Given the description of an element on the screen output the (x, y) to click on. 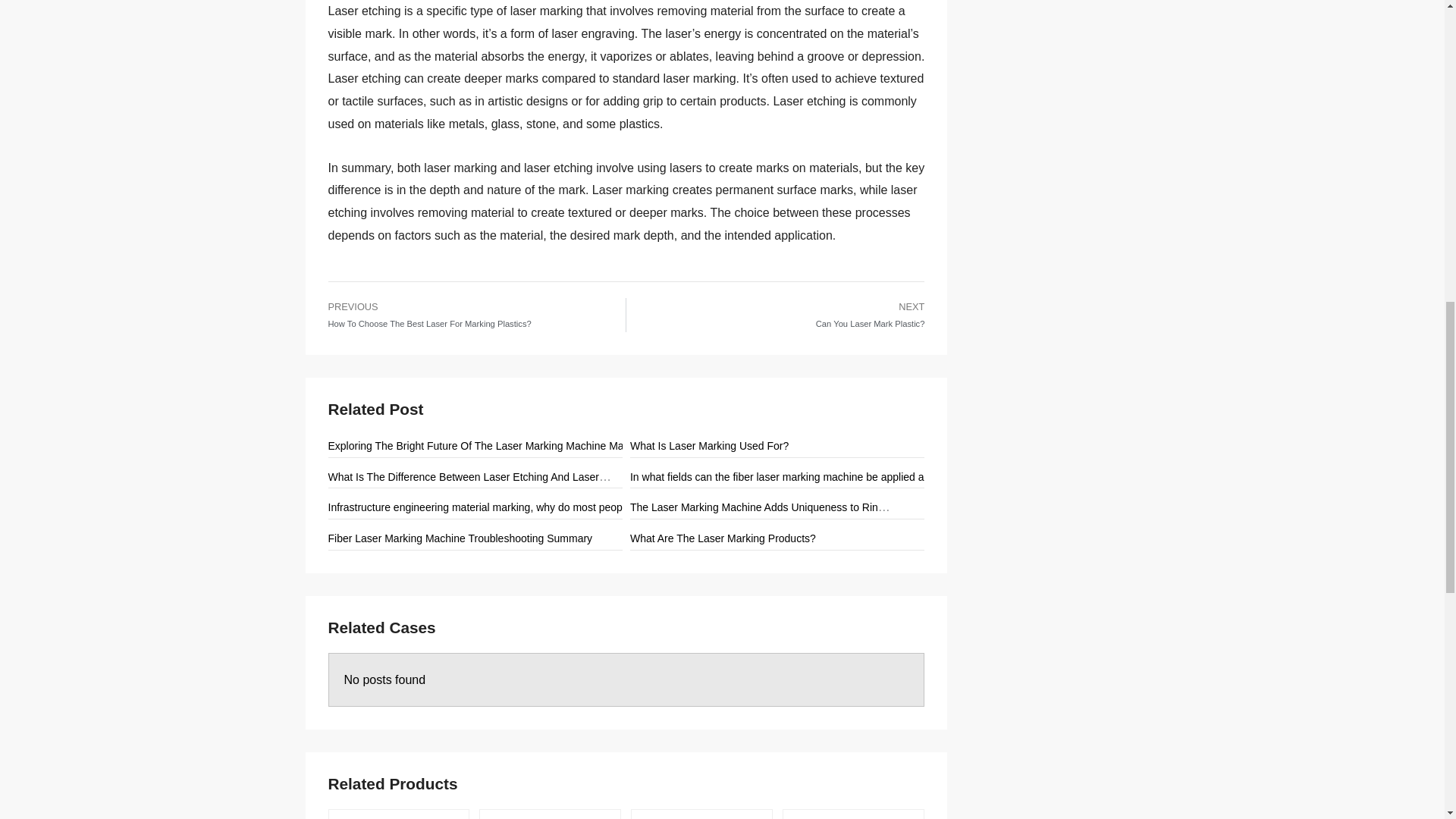
The Laser Marking Machine Adds Uniqueness to Ring Jewelry (776, 506)
What Are The Laser Marking Products? (722, 538)
Fiber Laser Marking Machine Troubleshooting Summary (459, 538)
What Is Laser Marking Used For? (709, 445)
